Given the description of an element on the screen output the (x, y) to click on. 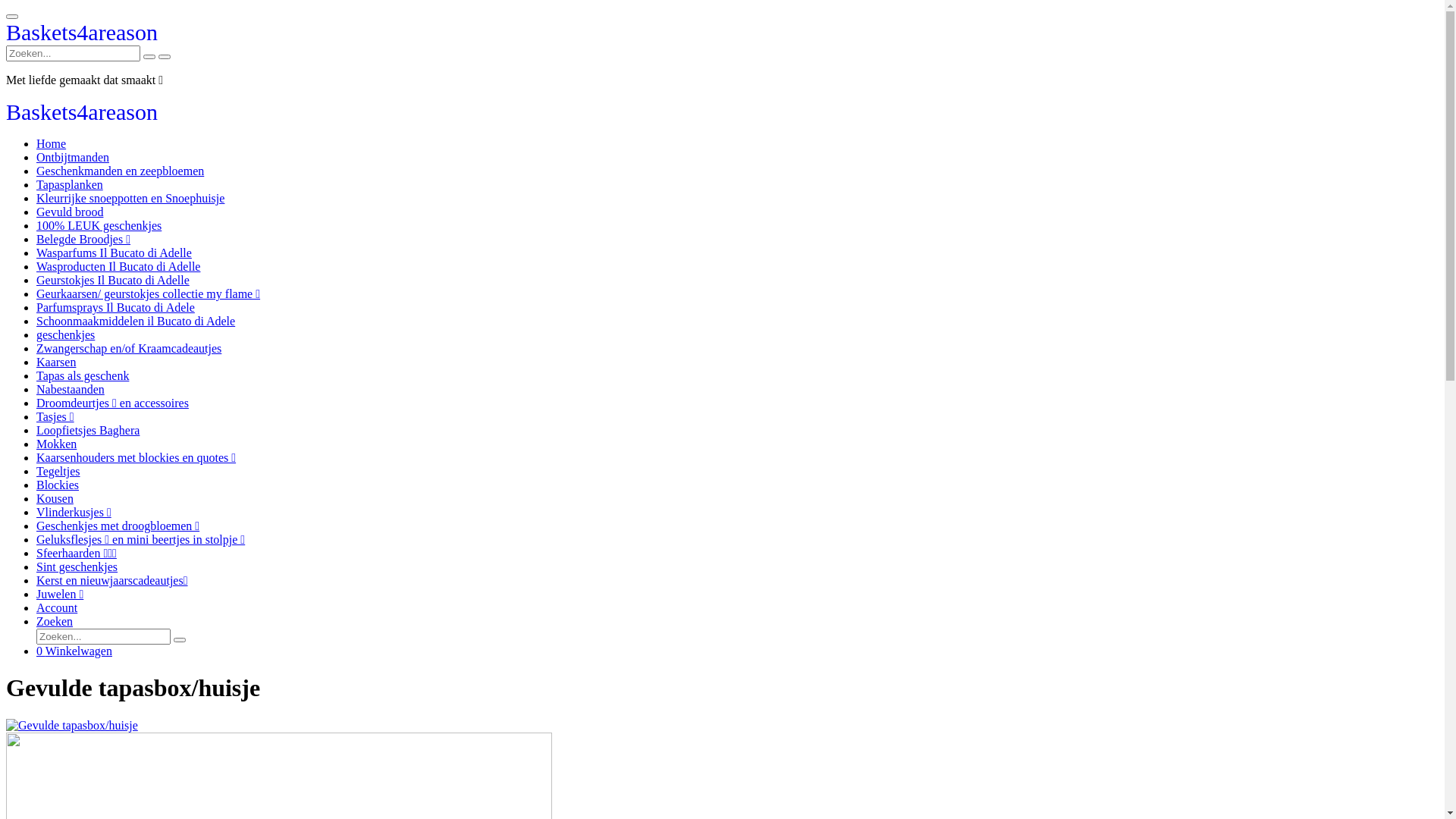
Kaarsen Element type: text (55, 361)
Baskets4areason Element type: text (81, 35)
100% LEUK geschenkjes Element type: text (98, 225)
Kleurrijke snoeppotten en Snoephuisje Element type: text (130, 197)
Baskets4areason Element type: text (81, 115)
Schoonmaakmiddelen il Bucato di Adele Element type: text (135, 320)
0 Winkelwagen Element type: text (74, 650)
Home Element type: text (50, 143)
Blockies Element type: text (57, 484)
Tegeltjes Element type: text (58, 470)
Account Element type: text (56, 607)
Zwangerschap en/of Kraamcadeautjes Element type: text (128, 348)
Parfumsprays Il Bucato di Adele Element type: text (115, 307)
Geurstokjes Il Bucato di Adelle Element type: text (112, 279)
Kousen Element type: text (54, 498)
geschenkjes Element type: text (65, 334)
Nabestaanden Element type: text (70, 388)
Mokken Element type: text (56, 443)
Sint geschenkjes Element type: text (76, 566)
Gevuld brood Element type: text (69, 211)
Geschenkmanden en zeepbloemen Element type: text (119, 170)
Wasproducten Il Bucato di Adelle Element type: text (118, 266)
Wasparfums Il Bucato di Adelle Element type: text (113, 252)
Tapas als geschenk Element type: text (82, 375)
Zoeken Element type: text (54, 621)
Ontbijtmanden Element type: text (72, 156)
Tapasplanken Element type: text (69, 184)
Loopfietsjes Baghera Element type: text (87, 429)
